Given the description of an element on the screen output the (x, y) to click on. 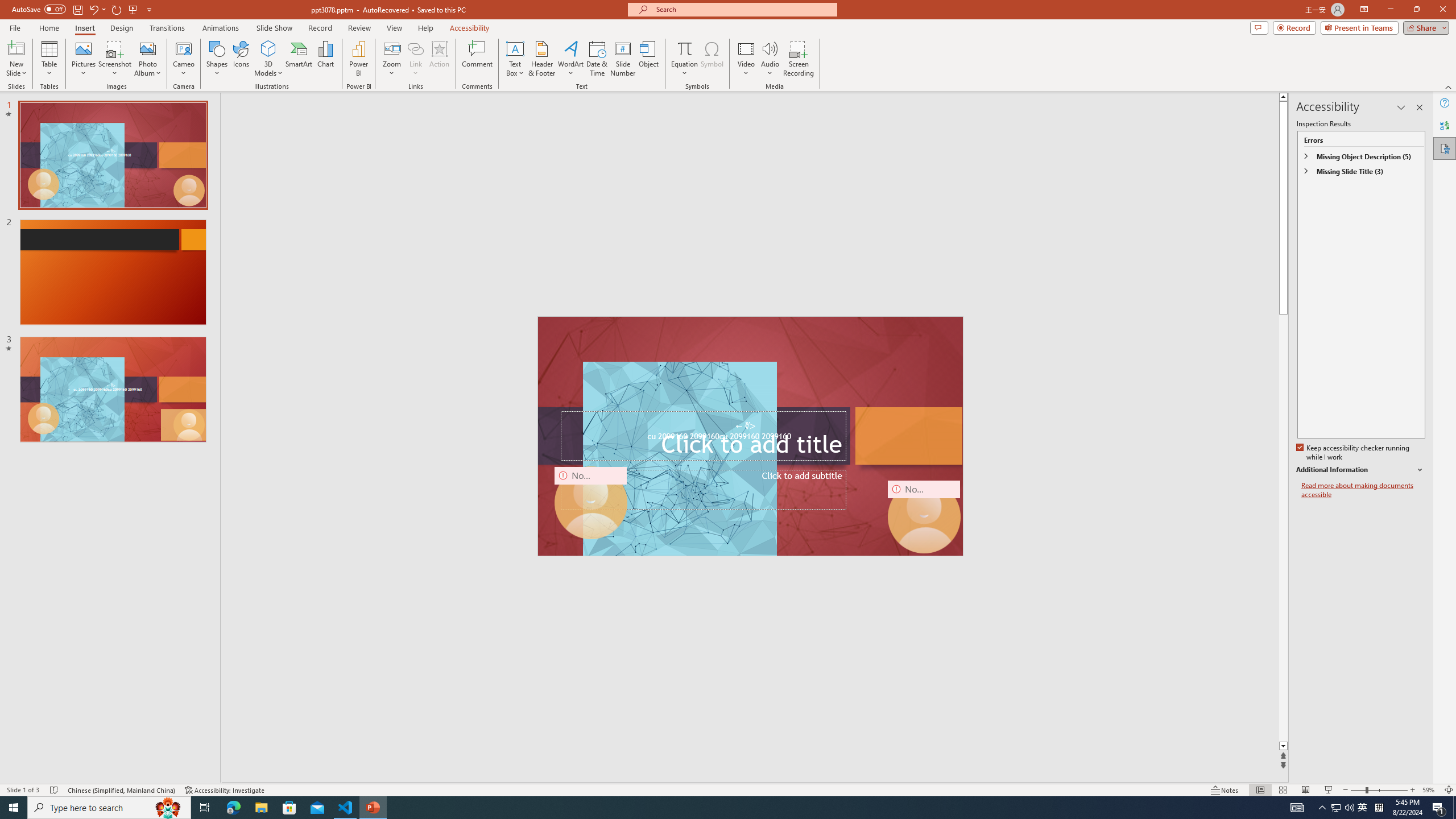
An abstract genetic concept (750, 435)
Screen Recording... (798, 58)
TextBox 7 (745, 426)
Photo Album... (147, 58)
Table (49, 58)
